Given the description of an element on the screen output the (x, y) to click on. 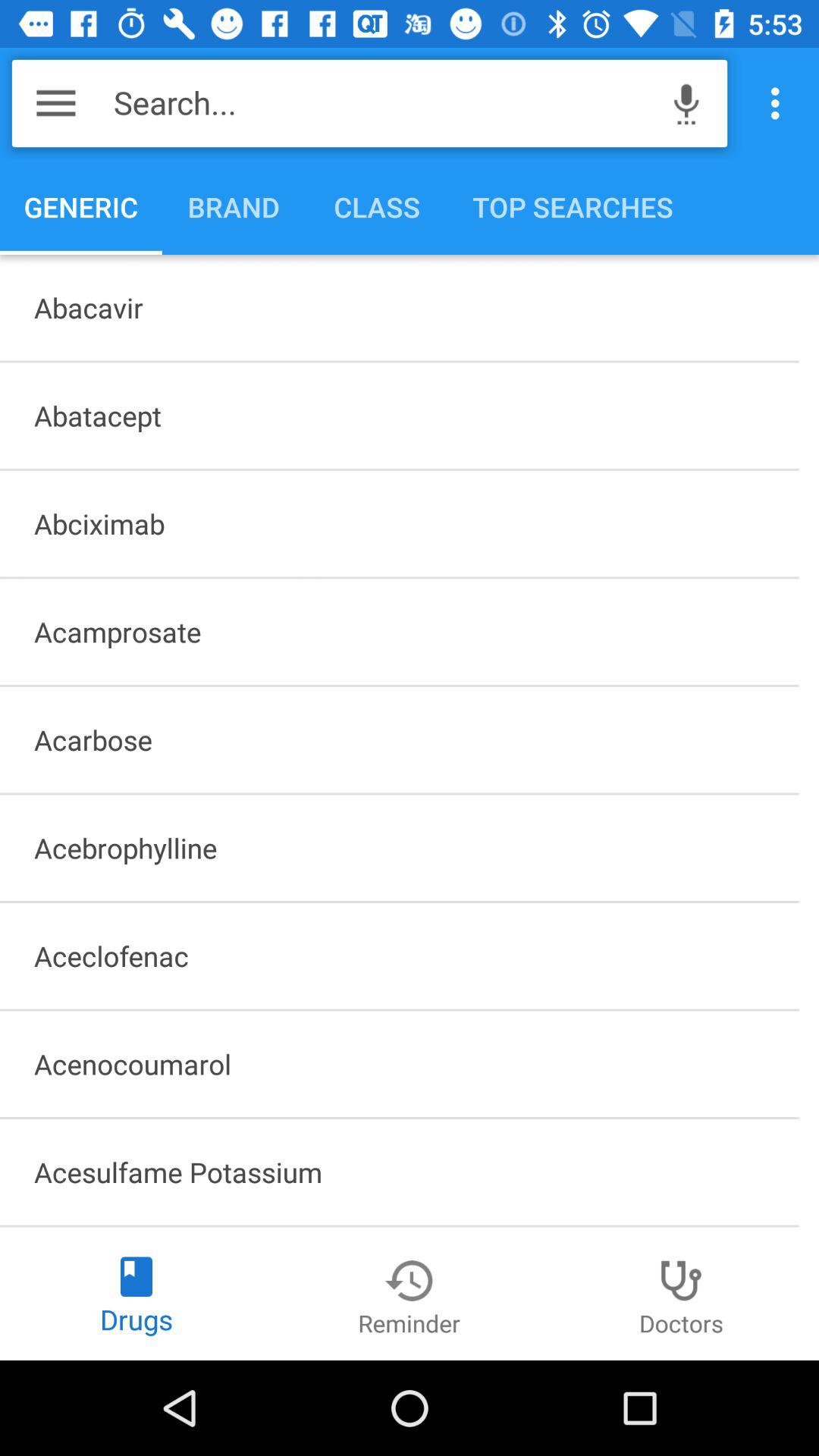
open item below the aceclofenac (399, 1063)
